Given the description of an element on the screen output the (x, y) to click on. 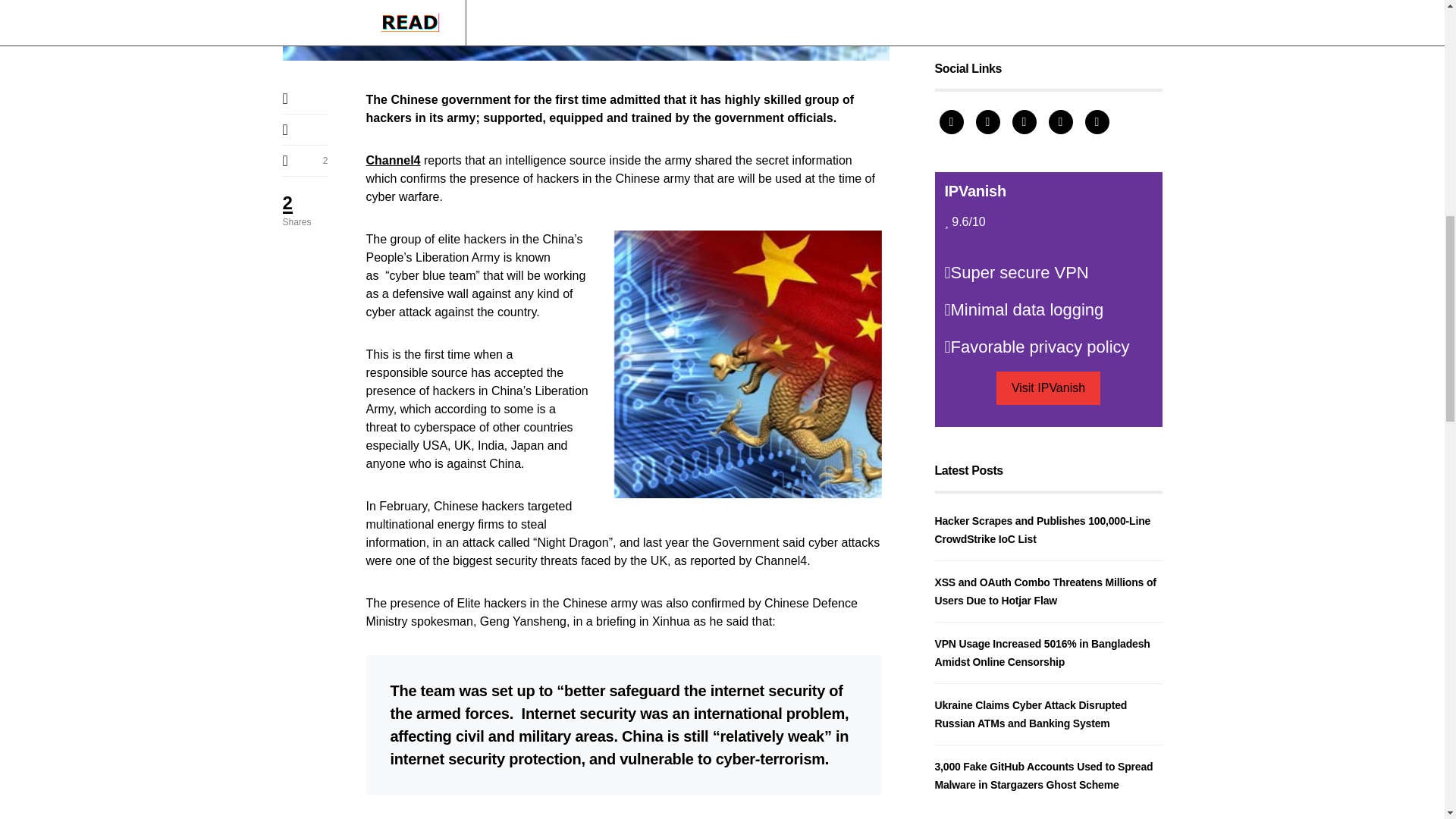
View all posts by Cyber Newswire (976, 291)
View all posts by Cyber Newswire (976, 414)
View all posts by Uzair Amir (963, 523)
View all posts by Uzair Amir (963, 167)
Channel4 (392, 160)
View all posts by Cyber Newswire (976, 646)
